Given the description of an element on the screen output the (x, y) to click on. 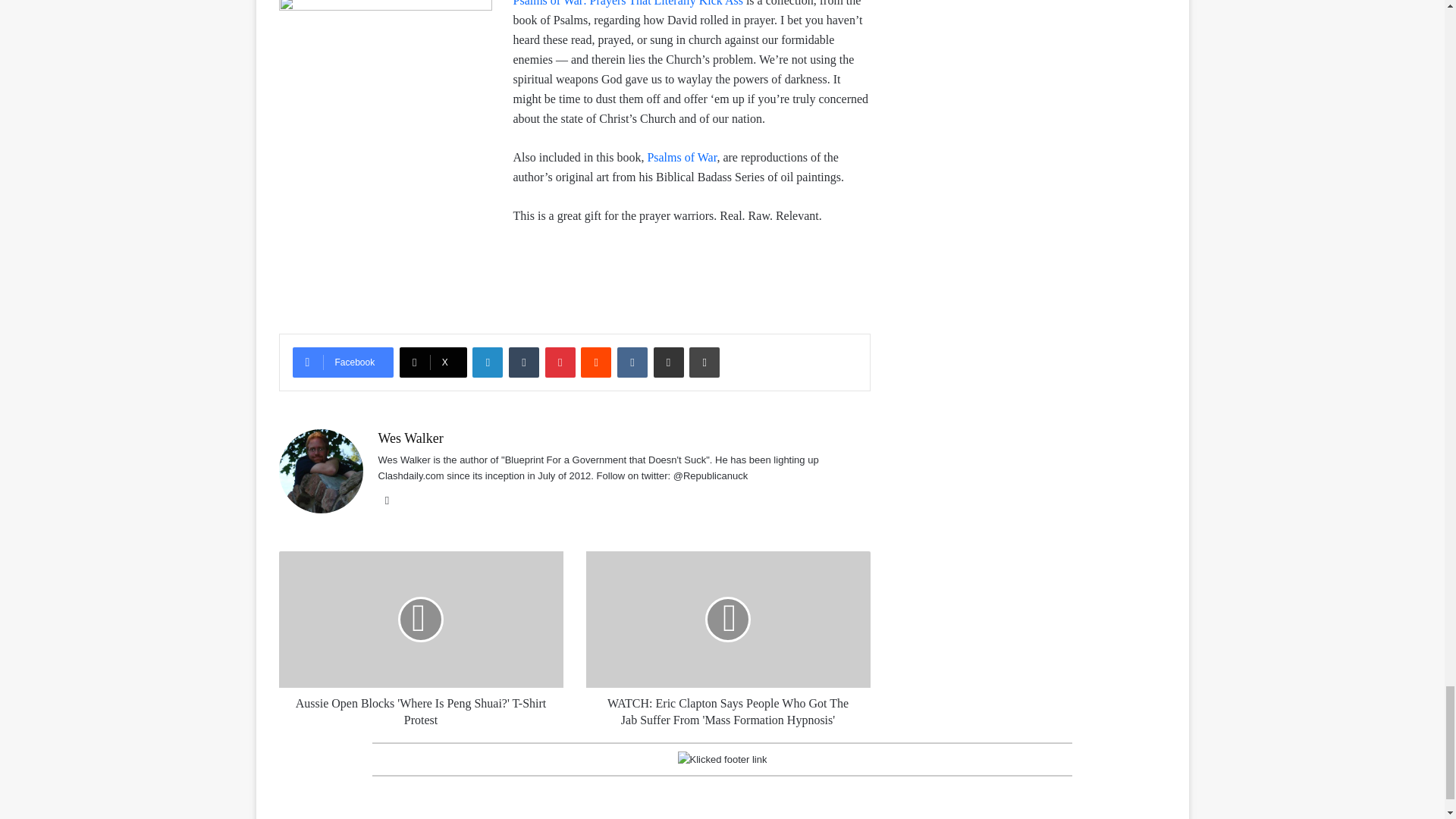
X (432, 362)
Tumblr (523, 362)
X (432, 362)
Facebook (343, 362)
Print (703, 362)
LinkedIn (486, 362)
Psalms of War: Prayers That Literally Kick Ass (628, 3)
Pinterest (559, 362)
Psalms of War (681, 156)
Tumblr (523, 362)
